Given the description of an element on the screen output the (x, y) to click on. 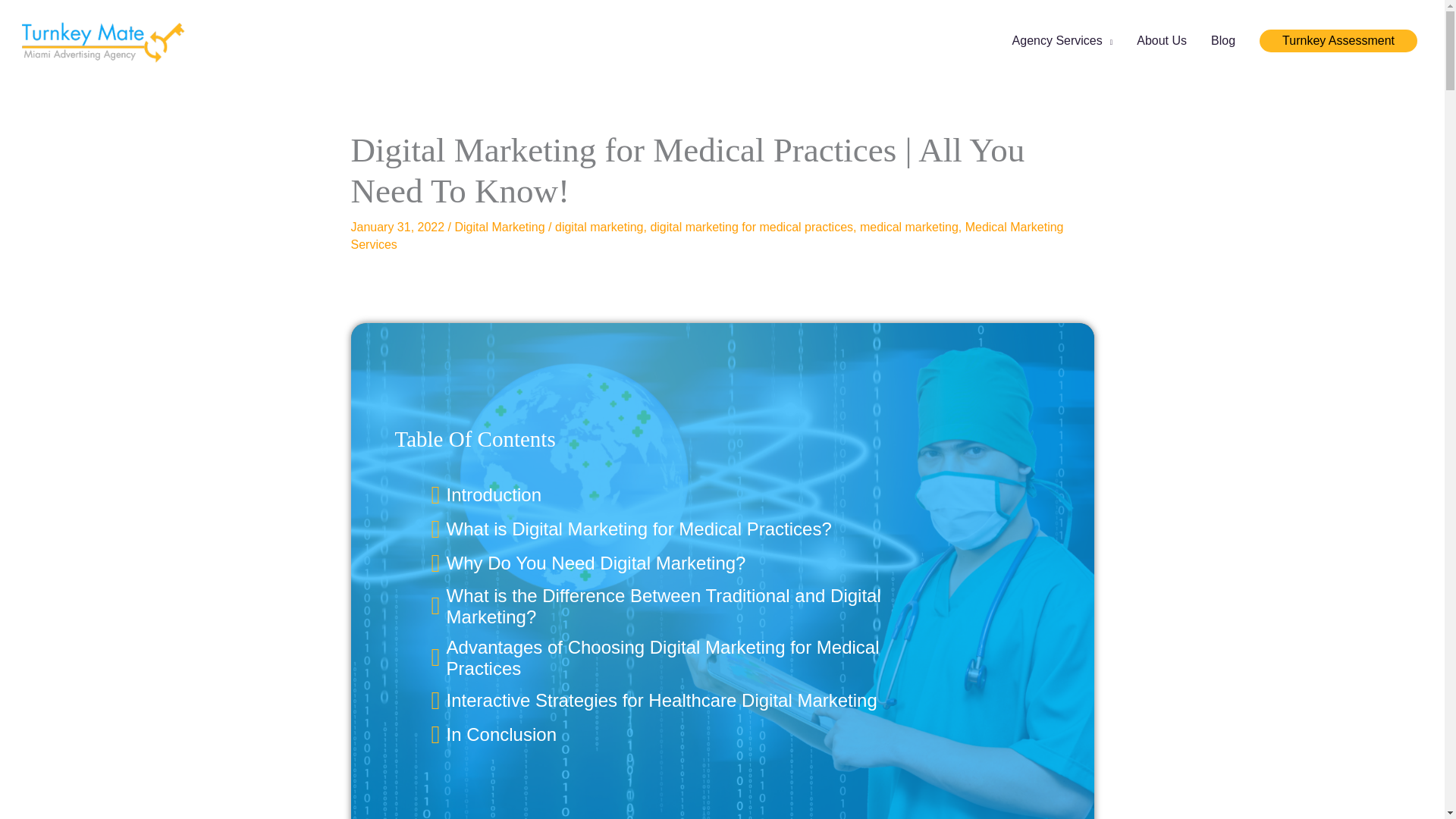
medical marketing (909, 226)
Interactive Strategies for Healthcare Digital Marketing (661, 700)
digital marketing (598, 226)
In Conclusion (501, 734)
Why Do You Need Digital Marketing? (595, 563)
Introduction (493, 495)
digital marketing for medical practices (751, 226)
What is Digital Marketing for Medical Practices? (638, 528)
Medical Marketing Services (706, 235)
About Us (1161, 40)
Blog (1222, 40)
Agency Services (1062, 40)
Turnkey Assessment (1337, 39)
